Given the description of an element on the screen output the (x, y) to click on. 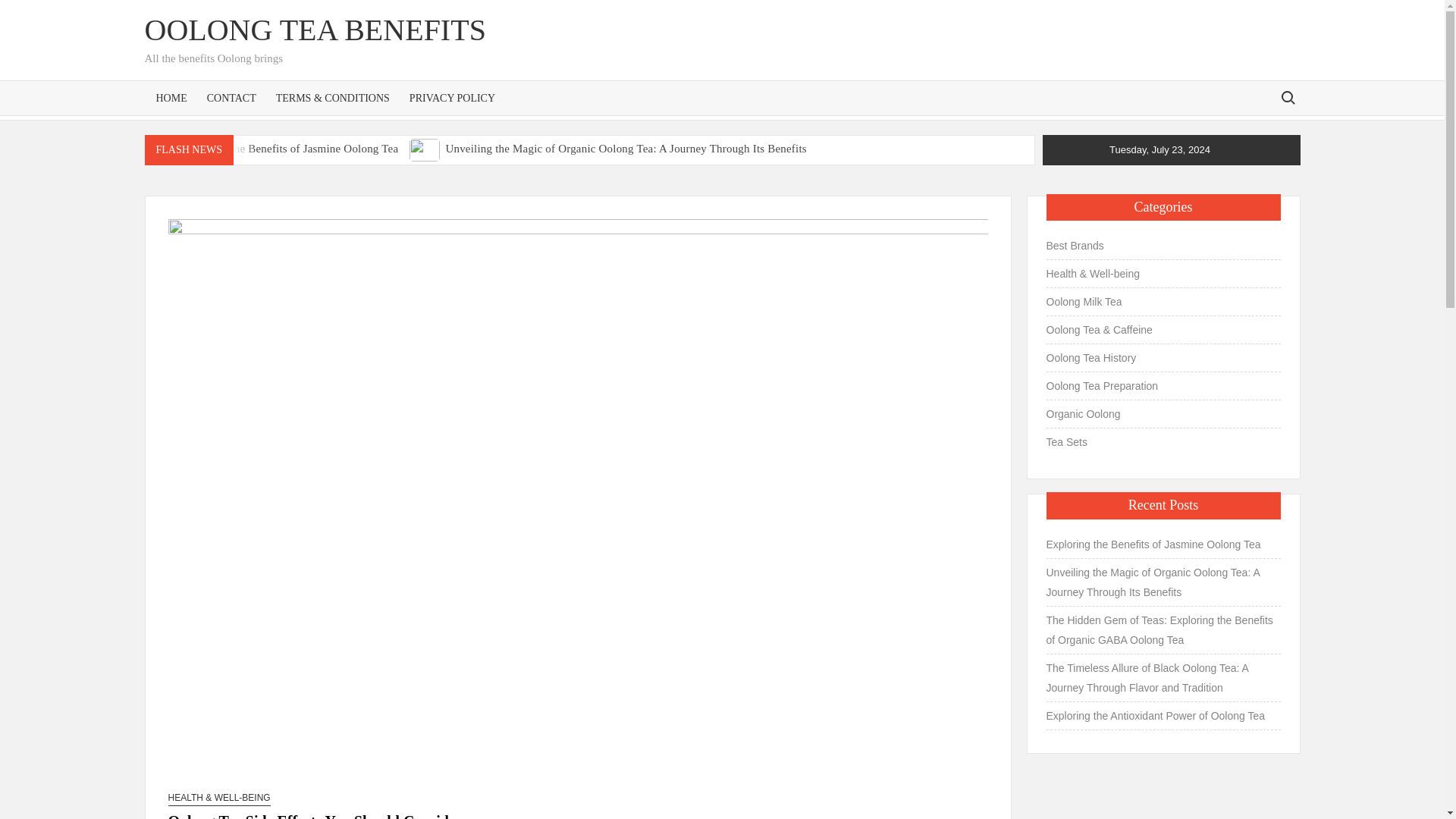
Exploring the Benefits of Jasmine Oolong Tea (289, 148)
PRIVACY POLICY (451, 97)
CONTACT (231, 97)
Exploring the Benefits of Jasmine Oolong Tea (289, 148)
OOLONG TEA BENEFITS (314, 29)
Search for: (1287, 97)
Exploring the Benefits of Jasmine Oolong Tea (161, 147)
HOME (171, 97)
